Given the description of an element on the screen output the (x, y) to click on. 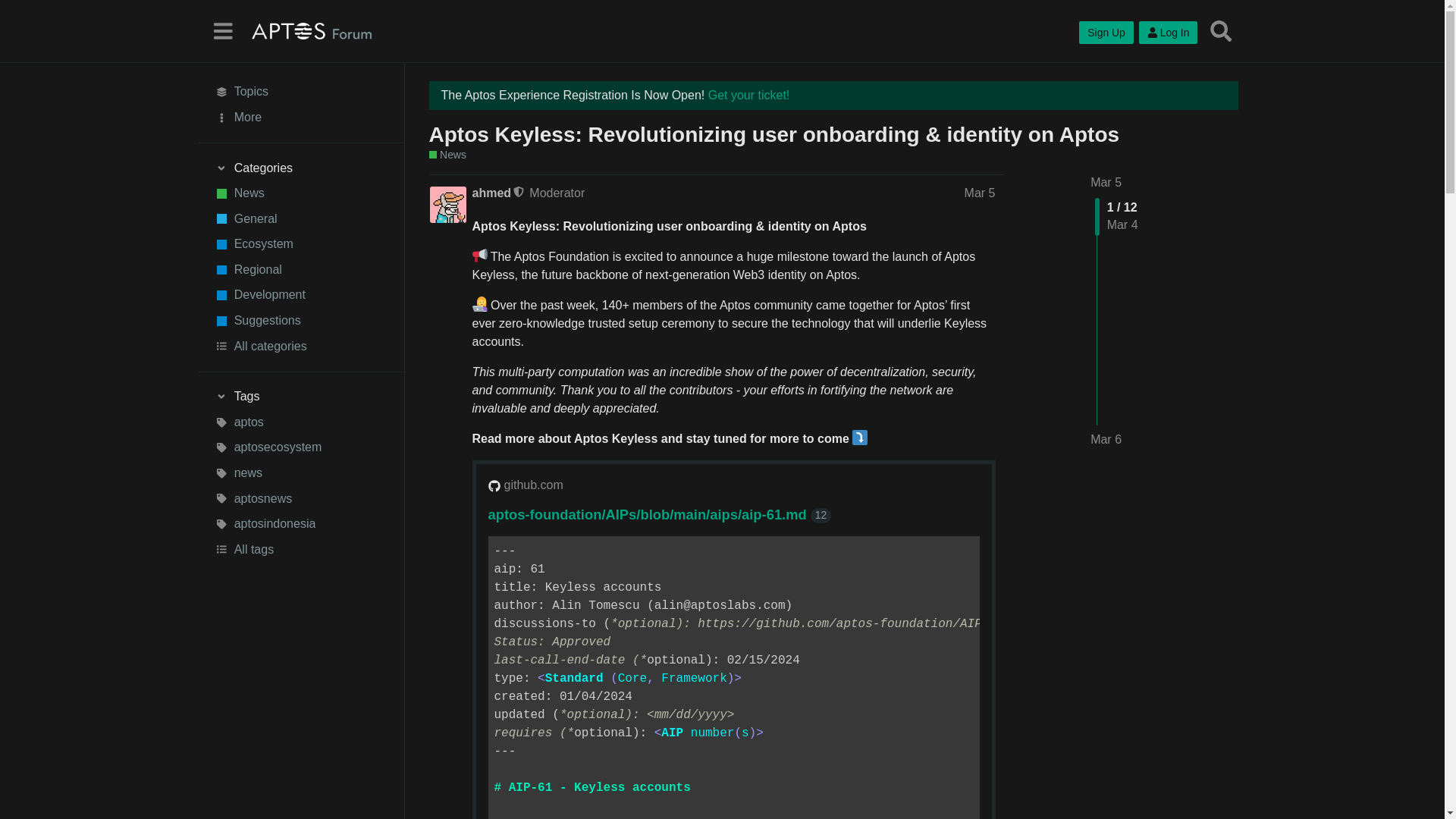
Search (1220, 30)
Mar 5 (1105, 182)
News (301, 193)
General (301, 218)
news (301, 473)
News (447, 155)
aptos (301, 421)
Find and discuss all the latest news about Aptos. (447, 155)
Topics (301, 92)
Tags (301, 397)
Mar 6 (1105, 439)
All tags (301, 549)
More (301, 117)
Sign Up (1105, 32)
